Given the description of an element on the screen output the (x, y) to click on. 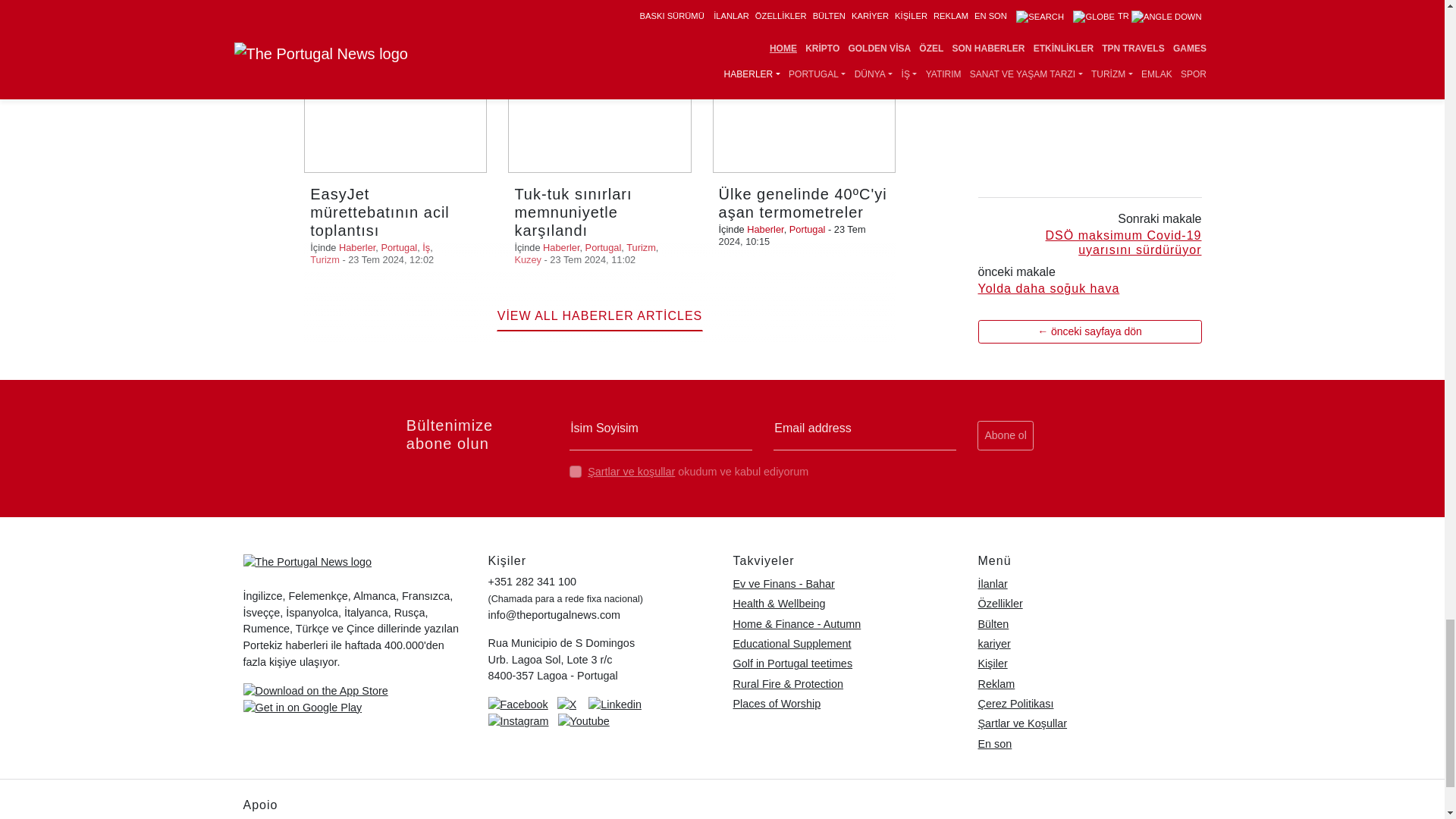
on (574, 471)
